Given the description of an element on the screen output the (x, y) to click on. 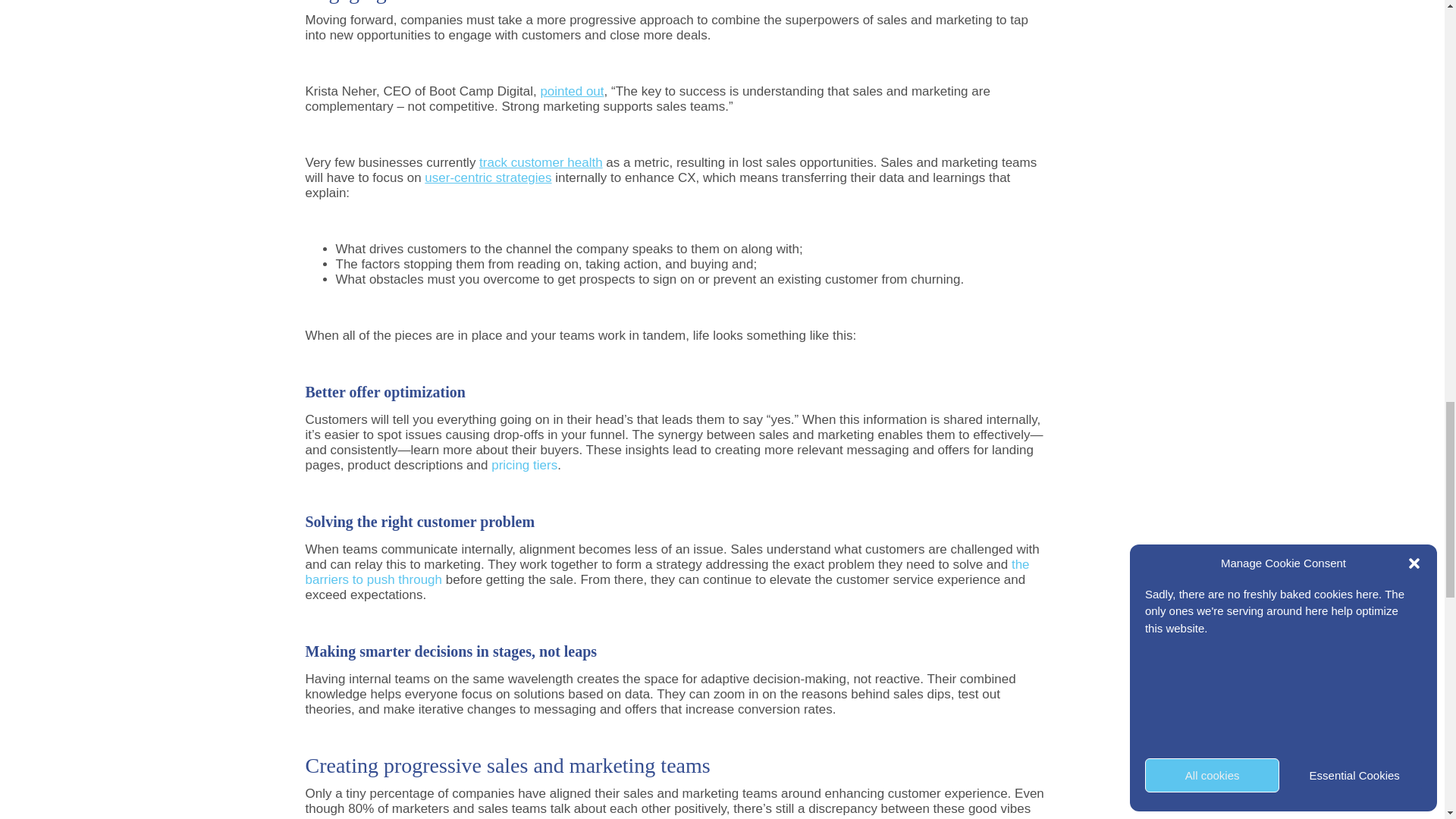
pointed out (572, 91)
